Given the description of an element on the screen output the (x, y) to click on. 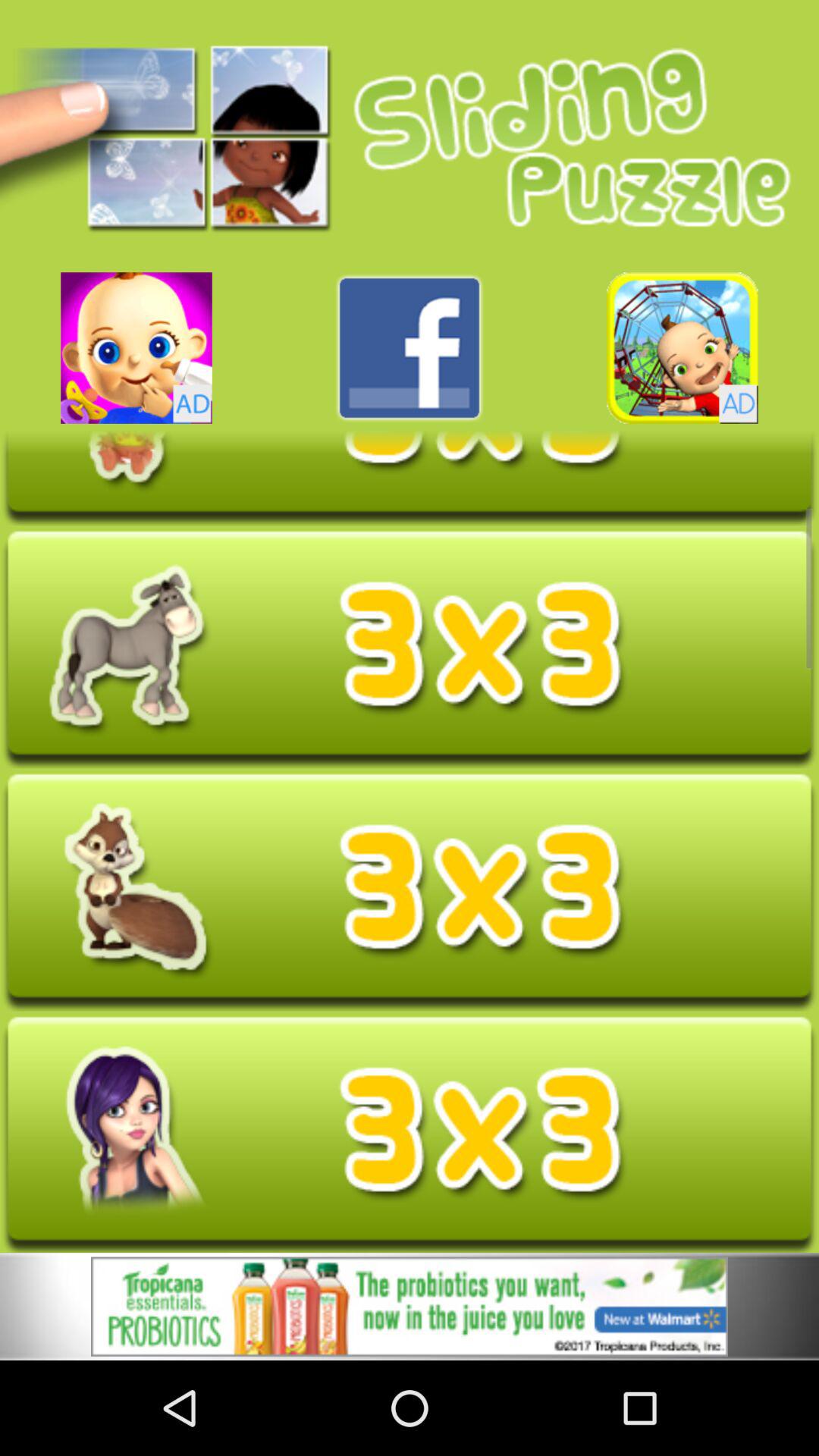
connect to facebook (409, 347)
